Given the description of an element on the screen output the (x, y) to click on. 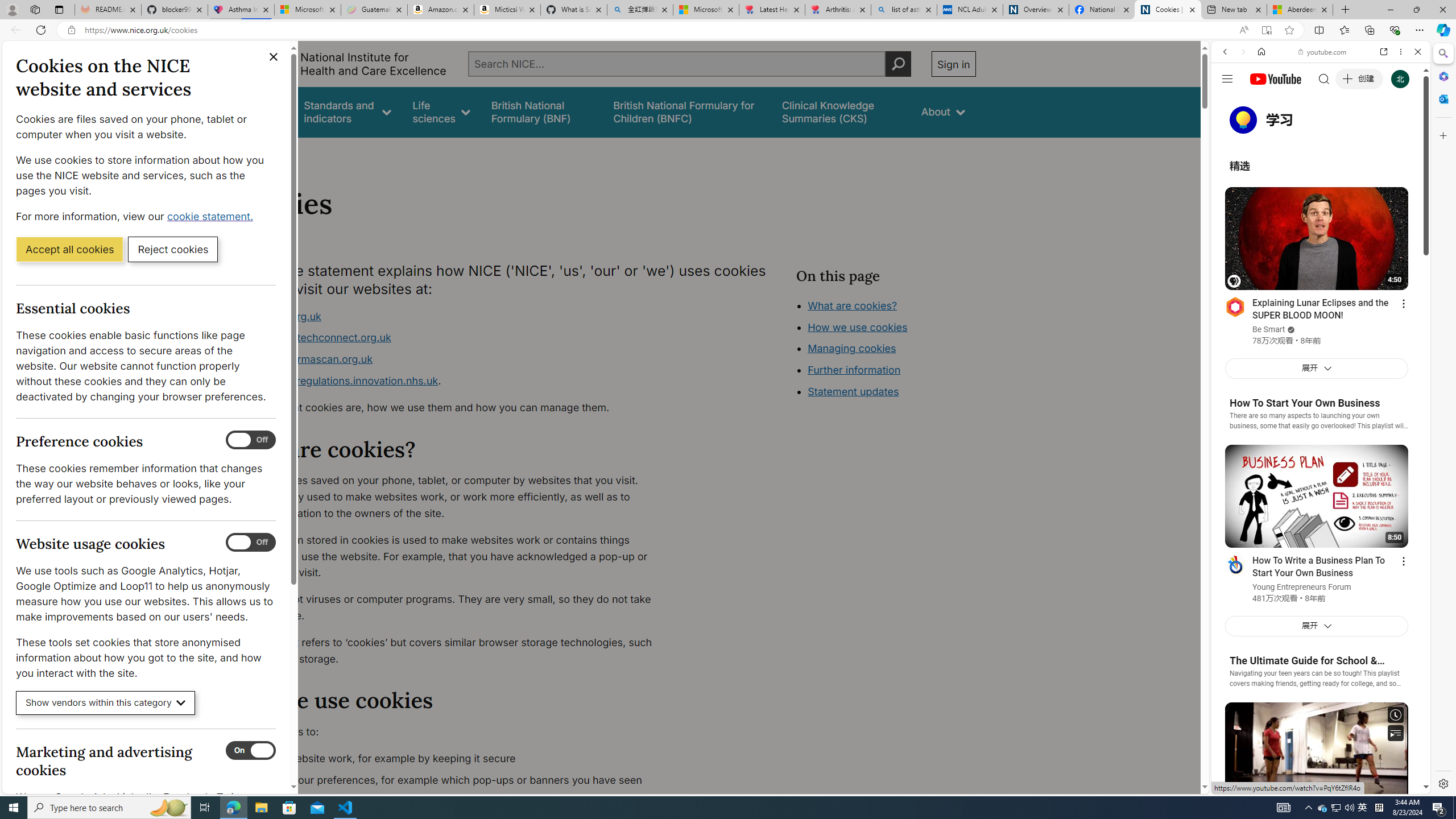
Reject cookies (173, 248)
Close cookie banner (273, 56)
you (1315, 755)
Young Entrepreneurs Forum (1302, 587)
